Given the description of an element on the screen output the (x, y) to click on. 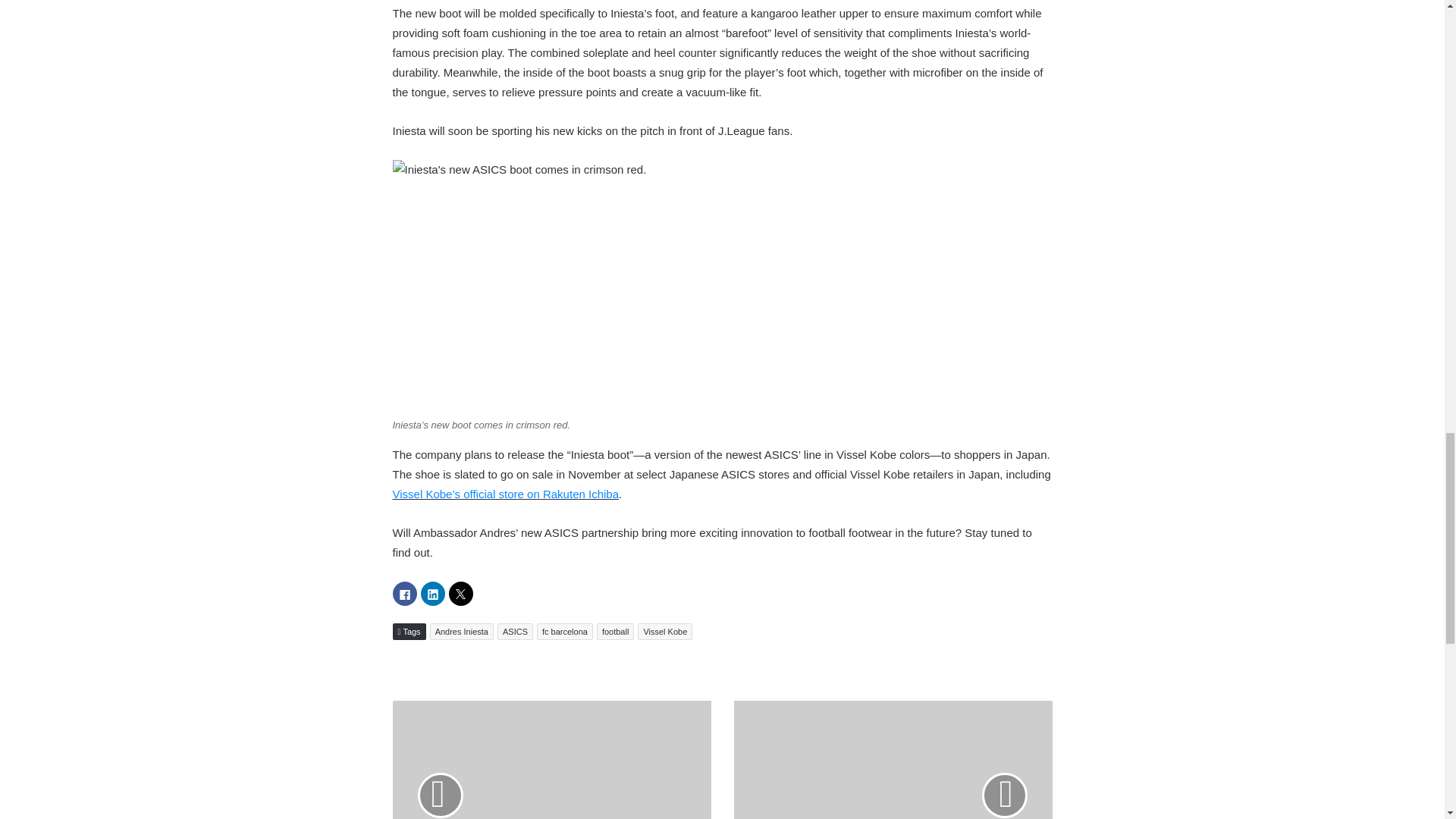
Click to share on Facebook (404, 593)
Click to share on Twitter (460, 593)
football (614, 631)
Click to share on LinkedIn (432, 593)
ASICS (514, 631)
Vissel Kobe (665, 631)
fc barcelona (564, 631)
Andres Iniesta (461, 631)
